Given the description of an element on the screen output the (x, y) to click on. 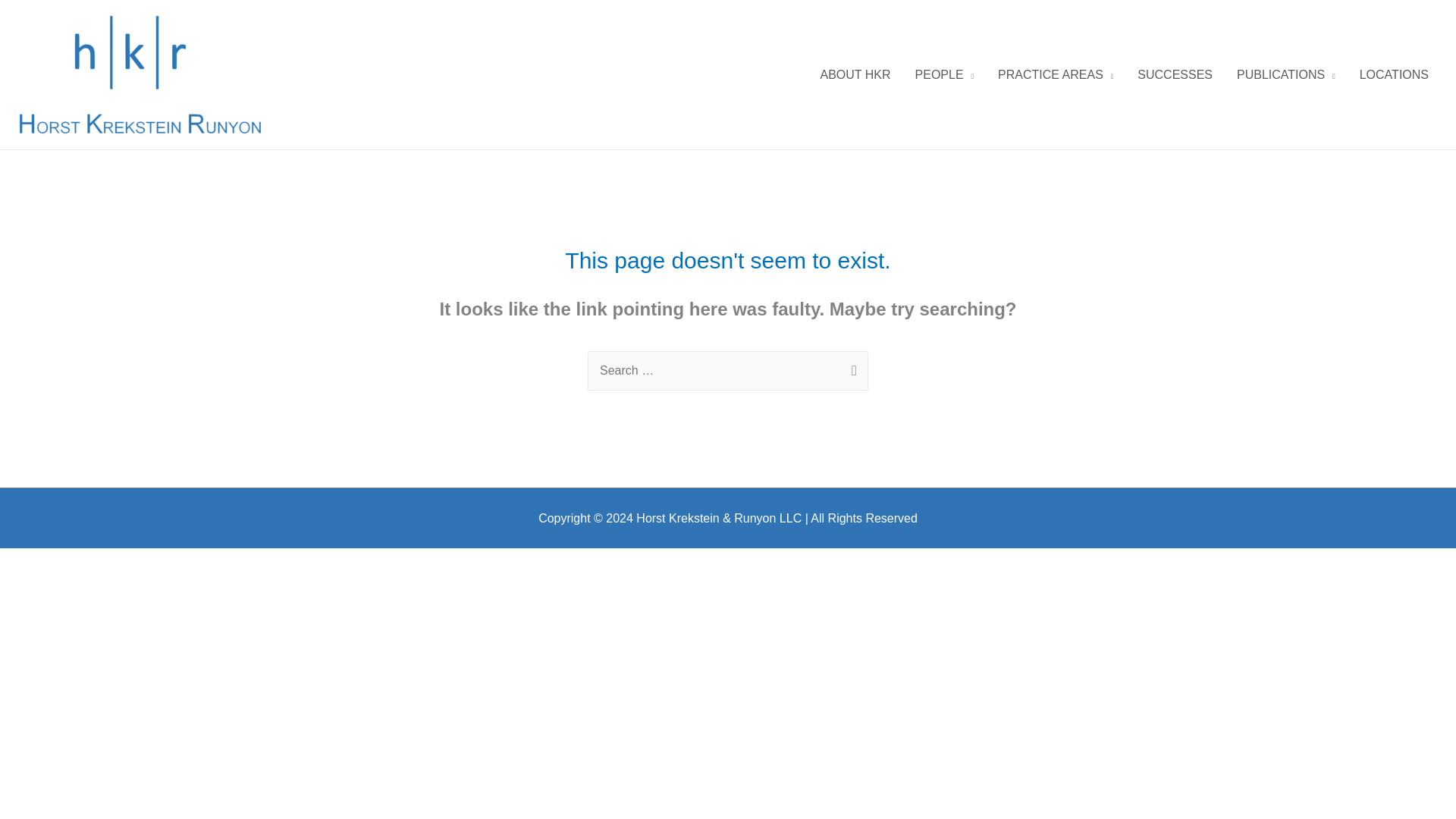
SUCCESSES (1174, 73)
LOCATIONS (1394, 73)
PEOPLE (944, 73)
PUBLICATIONS (1286, 73)
ABOUT HKR (855, 73)
PRACTICE AREAS (1055, 73)
